Given the description of an element on the screen output the (x, y) to click on. 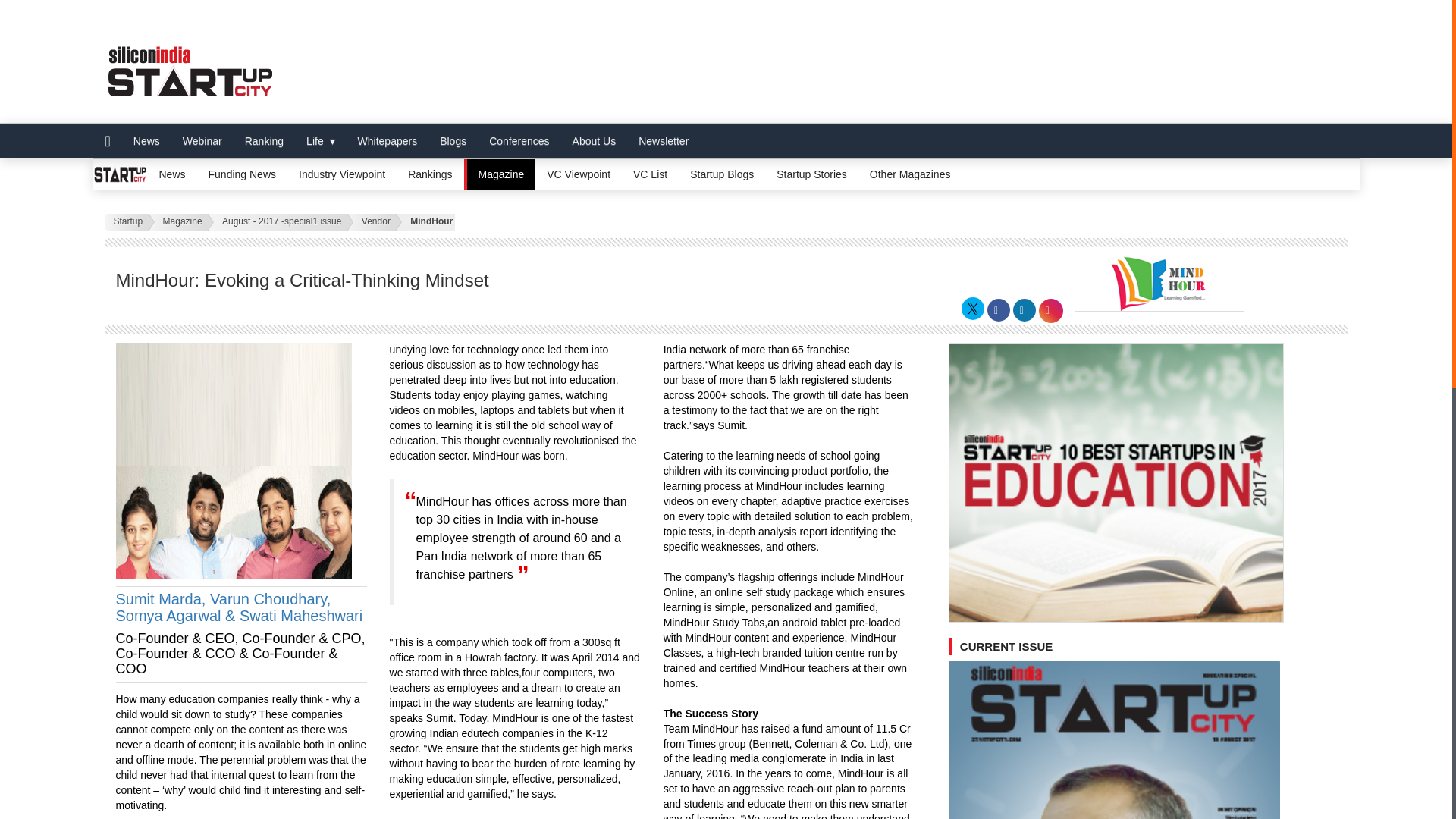
Newsletter (663, 141)
News (171, 173)
Funding News (242, 173)
Conferences (518, 141)
News (146, 141)
Other Magazines (910, 173)
VC Viewpoint (578, 173)
Startup Blogs (721, 173)
Startup Stories (812, 173)
